Given the description of an element on the screen output the (x, y) to click on. 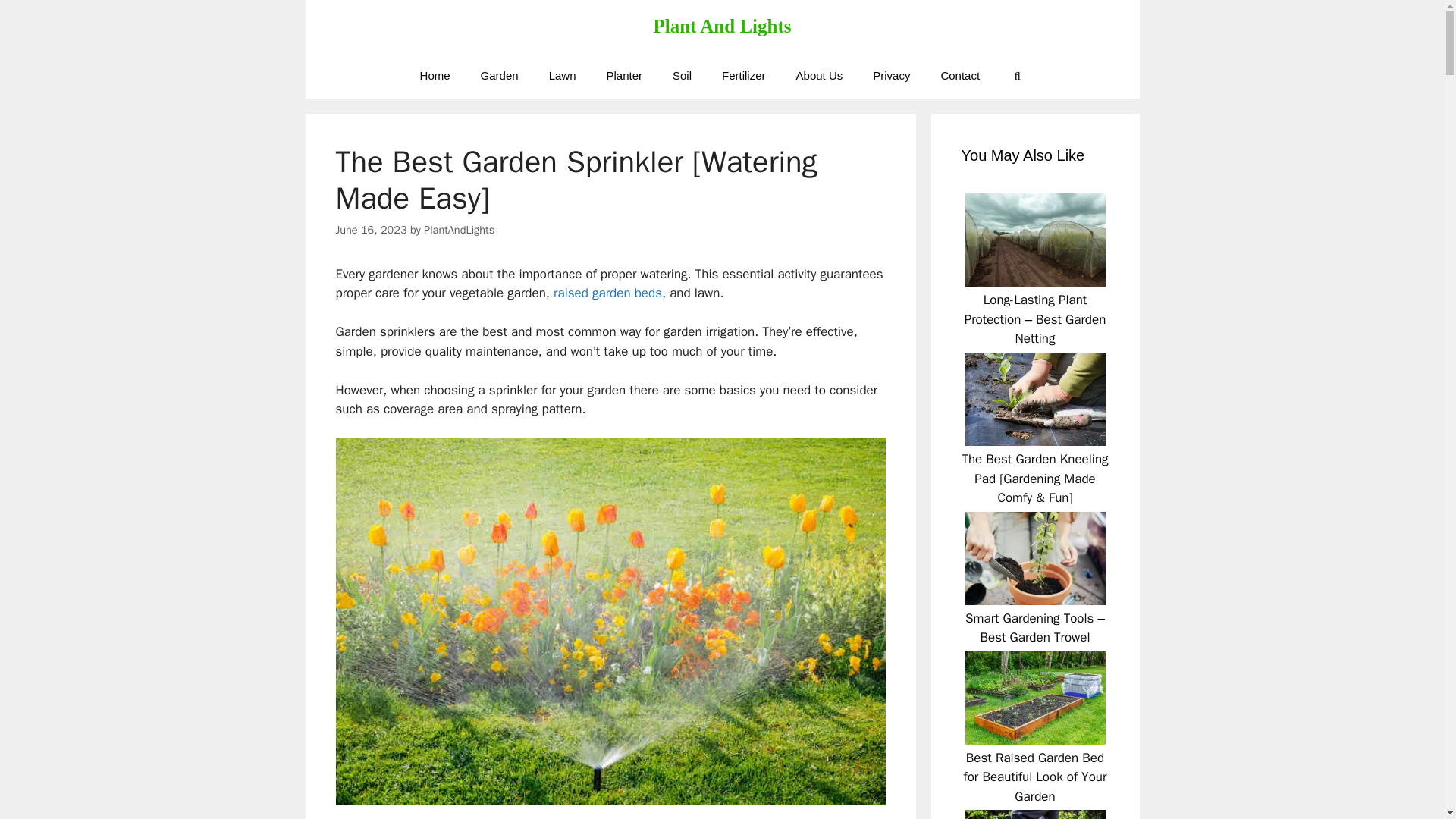
Best Raised Garden Bed for Beautiful Look of Your Garden (1034, 777)
Contact (959, 75)
raised garden beds (607, 293)
About Us (819, 75)
Home (434, 75)
Garden (499, 75)
Plant And Lights (721, 25)
Fertilizer (743, 75)
Privacy (890, 75)
Soil (682, 75)
